Given the description of an element on the screen output the (x, y) to click on. 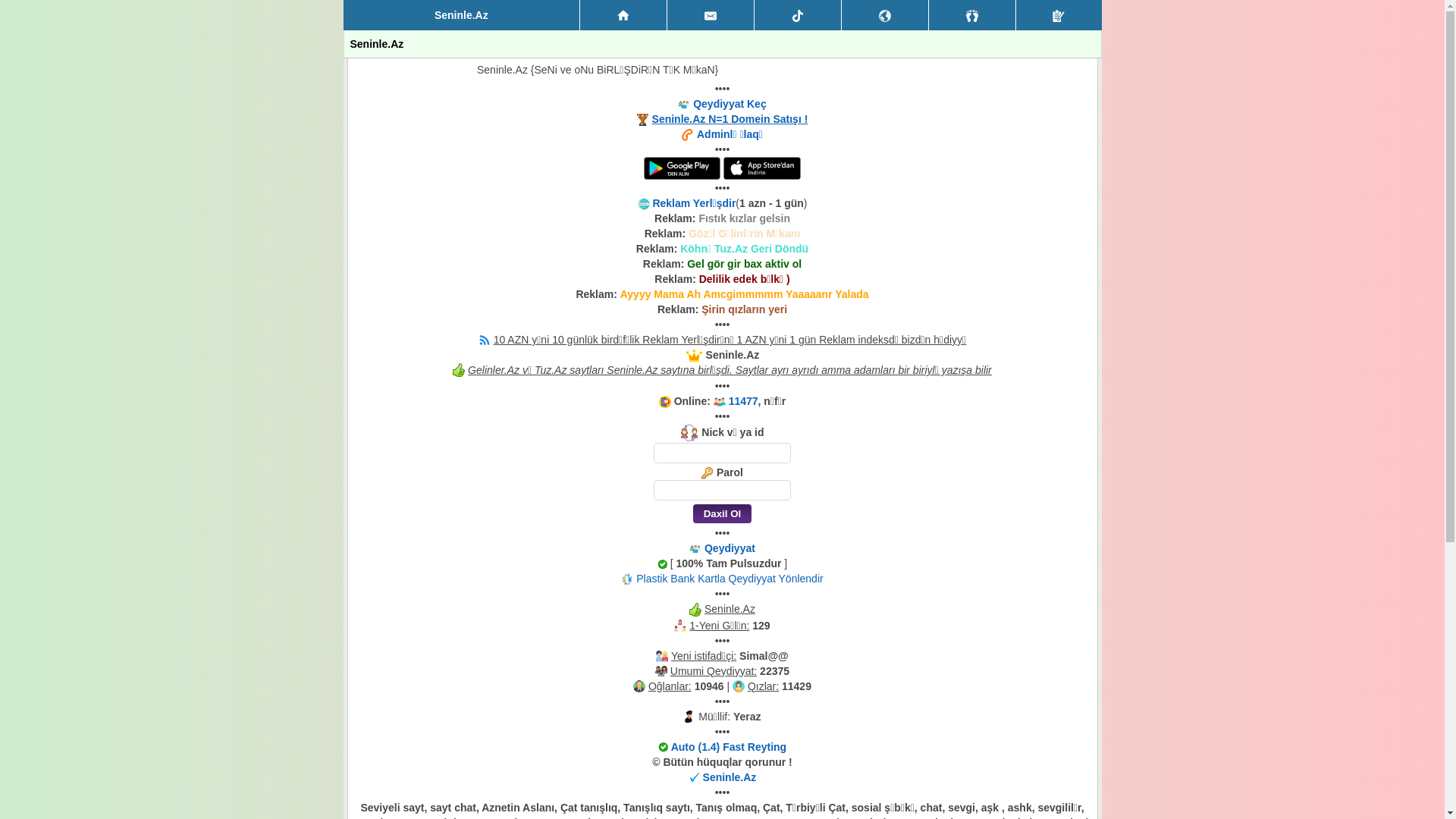
Qonaqlar Element type: hover (971, 15)
nick Element type: hover (721, 452)
Tiktok Element type: hover (797, 15)
Auto (1.4) Fast Reyting Element type: text (728, 746)
Parol Element type: hover (721, 490)
11477 Element type: text (743, 401)
Qeydiyyat Element type: hover (1058, 15)
Daxil Ol Element type: text (721, 513)
Ayyyy Mama Ah Amcgimmmmm Yaaaaanr Yalada Element type: text (744, 294)
Seninle.Az Element type: text (729, 777)
Qeydiyyat Element type: text (729, 548)
Mesajlar Element type: hover (710, 15)
Bildirisler Element type: hover (884, 15)
